Given the description of an element on the screen output the (x, y) to click on. 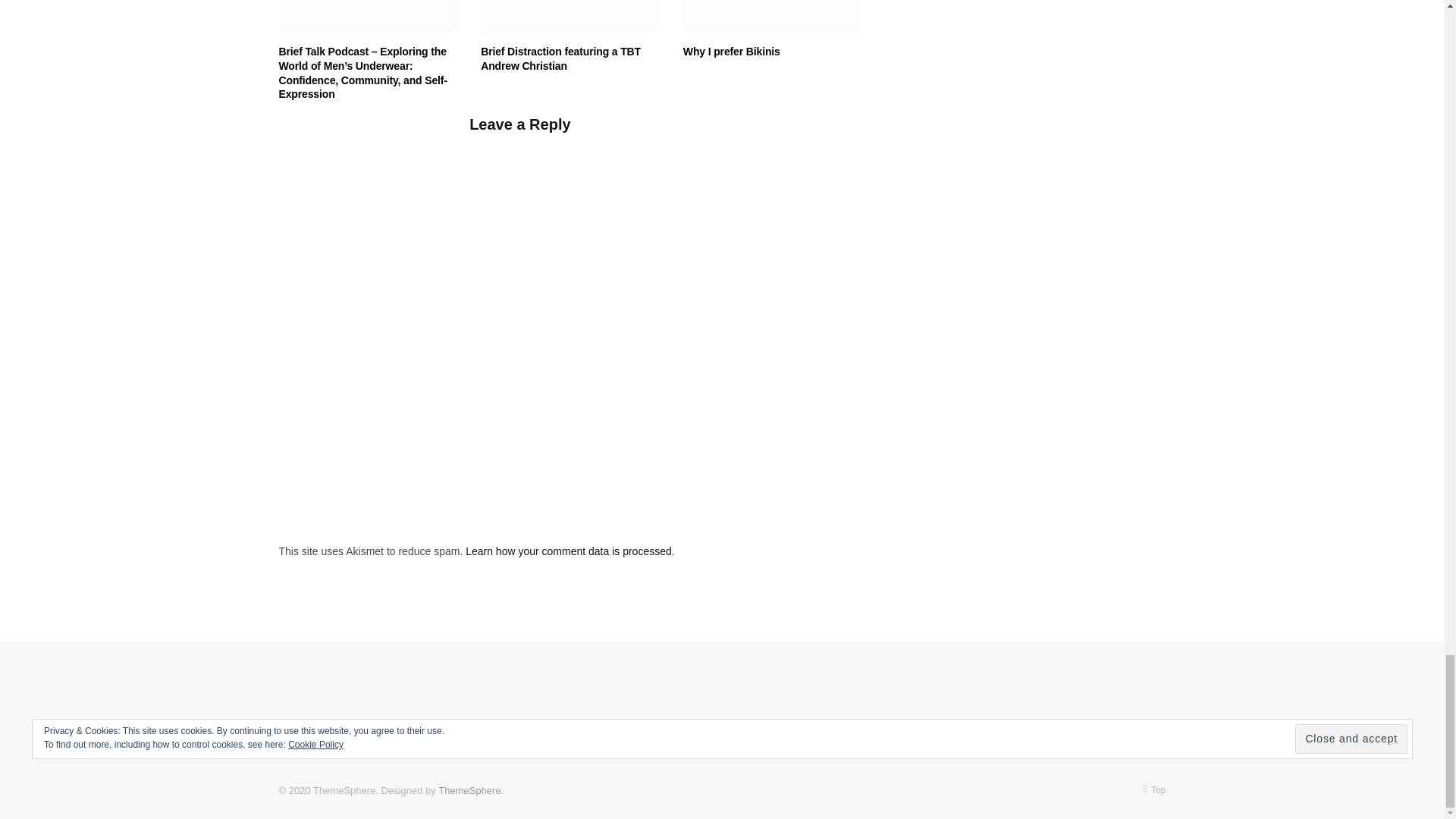
Brief Distraction featuring a TBT Andrew Christian (570, 16)
Why I prefer Bikinis (772, 16)
